Given the description of an element on the screen output the (x, y) to click on. 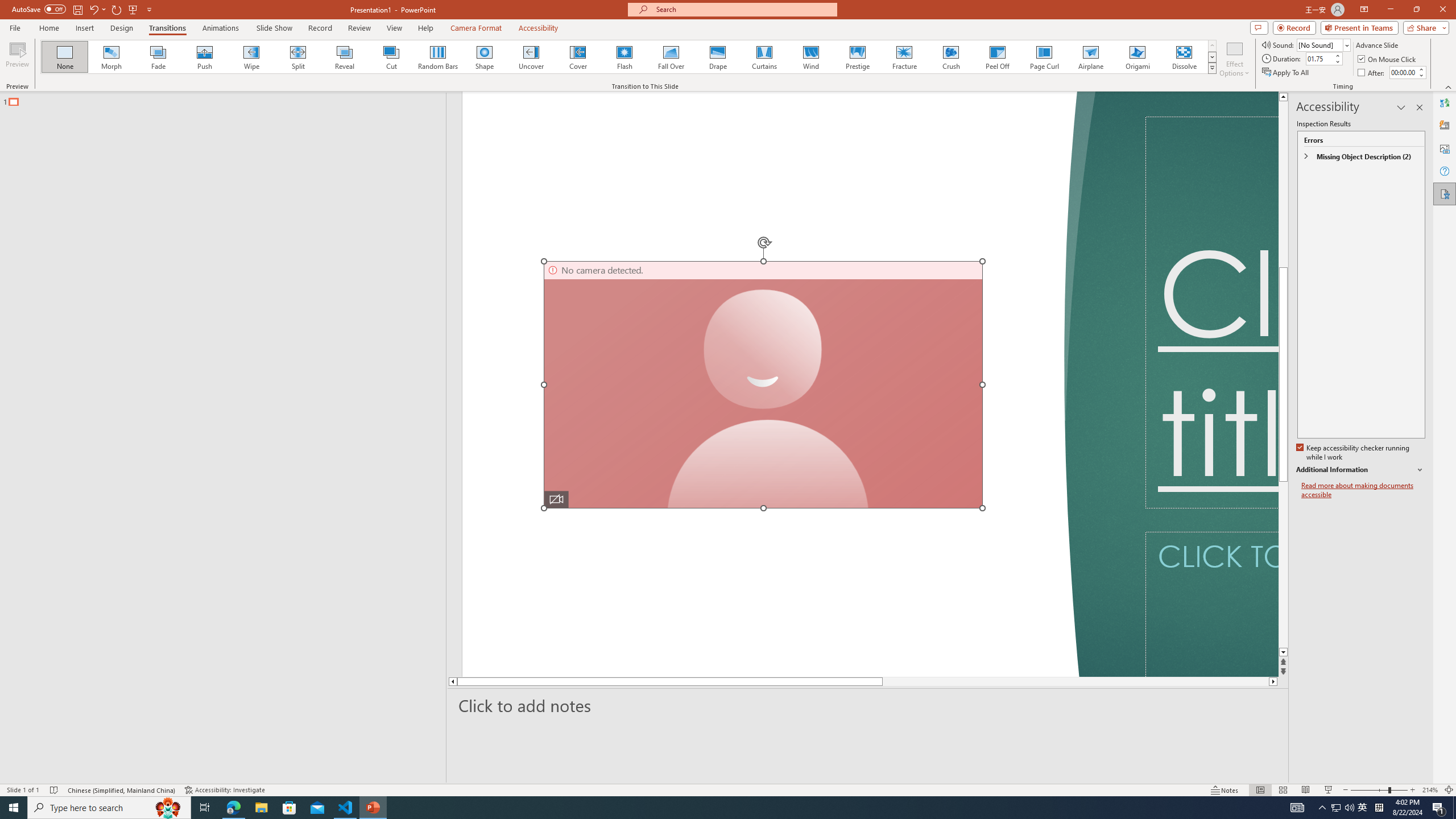
Crush (950, 56)
Fracture (903, 56)
Decorative Locked (779, 383)
Translator (1444, 102)
Prestige (857, 56)
Dissolve (1183, 56)
Sound (1324, 44)
